Given the description of an element on the screen output the (x, y) to click on. 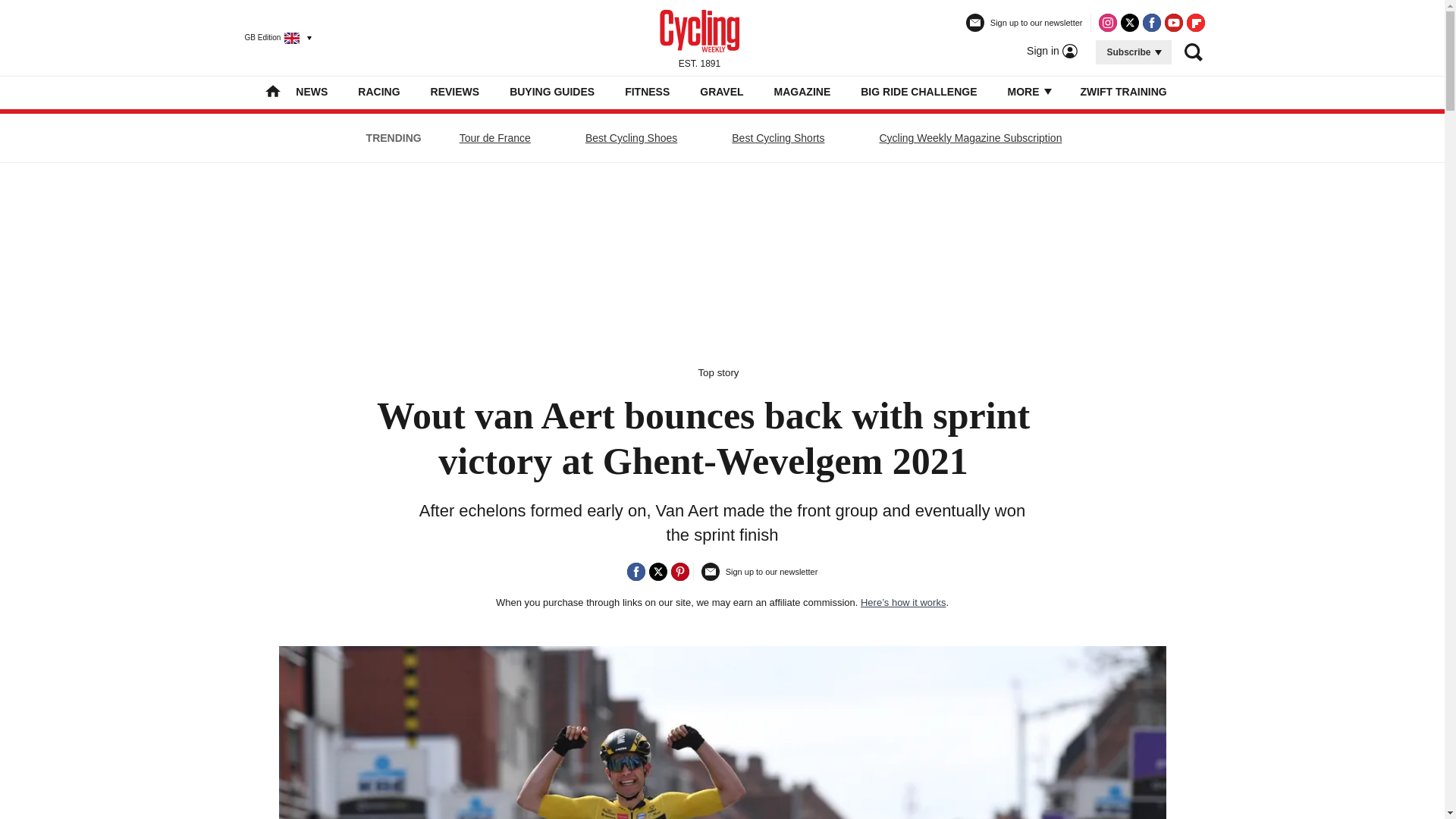
GB Edition (271, 37)
Tour de France (494, 137)
FITNESS (646, 91)
BIG RIDE CHALLENGE (918, 91)
MAGAZINE (802, 91)
EST. 1891 (699, 37)
Cycling Weekly Magazine Subscription (970, 137)
NEWS (311, 91)
REVIEWS (455, 91)
RACING (378, 91)
Top story (717, 372)
GRAVEL (721, 91)
Best Cycling Shorts (777, 137)
Sign up to our newsletter (1024, 28)
ZWIFT TRAINING (1123, 91)
